Given the description of an element on the screen output the (x, y) to click on. 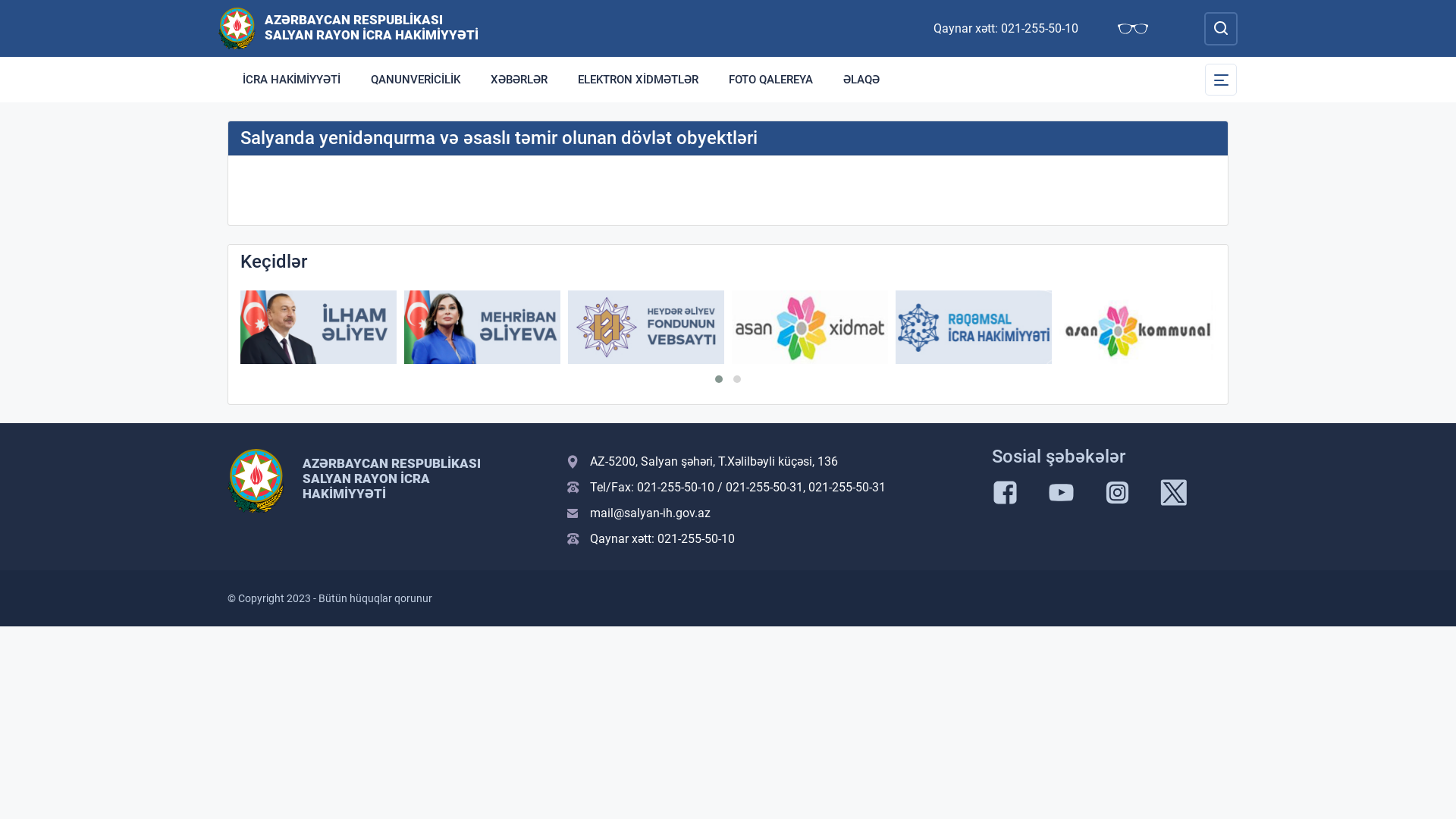
QANUNVERICILIK Element type: text (415, 79)
Asan komunal Element type: hover (1137, 327)
FOTO QALEREYA Element type: text (770, 79)
mail@salyan-ih.gov.az Element type: text (770, 513)
